Given the description of an element on the screen output the (x, y) to click on. 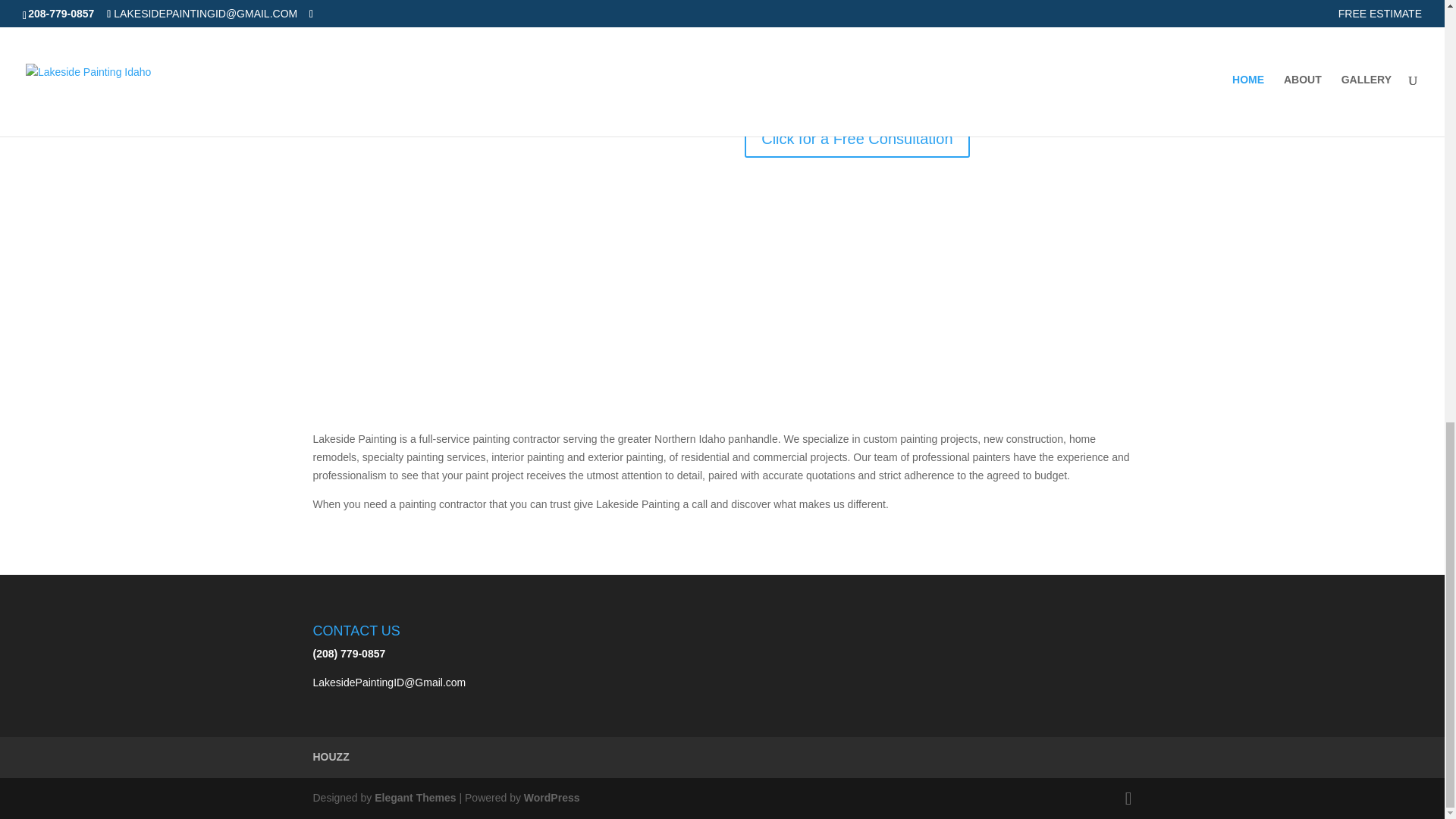
WordPress (551, 797)
Premium WordPress Themes (414, 797)
Elegant Themes (414, 797)
Click for a Free Consultation (856, 138)
HOUZZ (331, 756)
